Given the description of an element on the screen output the (x, y) to click on. 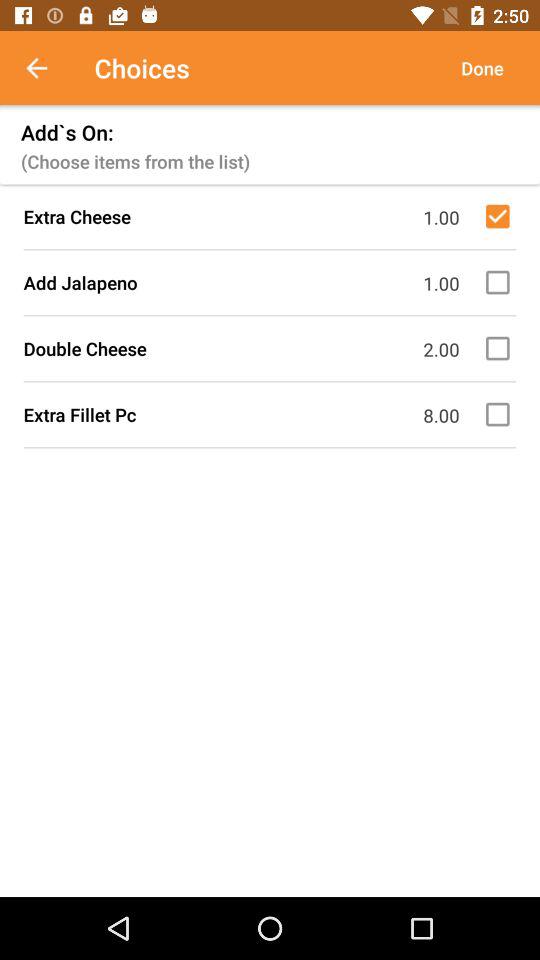
tap item above add`s on: item (47, 68)
